Given the description of an element on the screen output the (x, y) to click on. 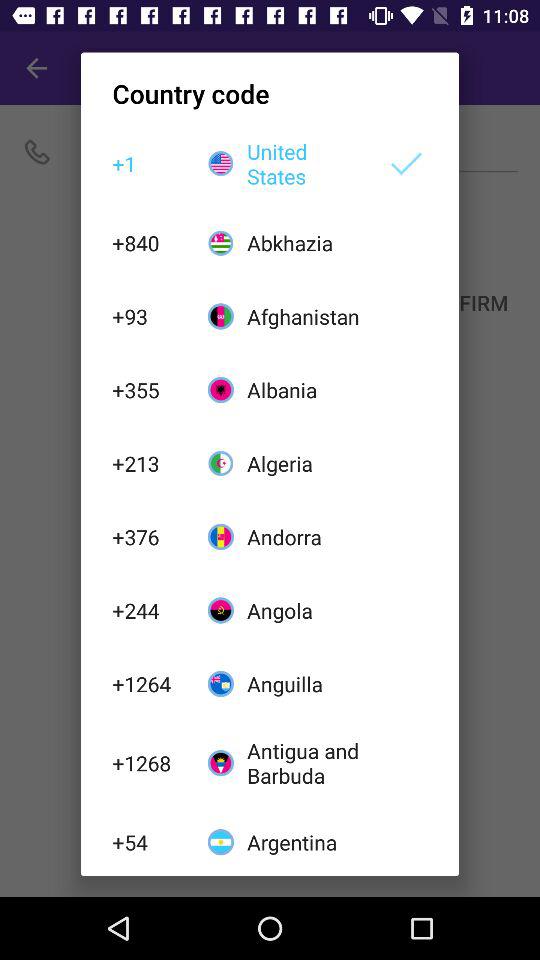
swipe to +1268 item (149, 762)
